Given the description of an element on the screen output the (x, y) to click on. 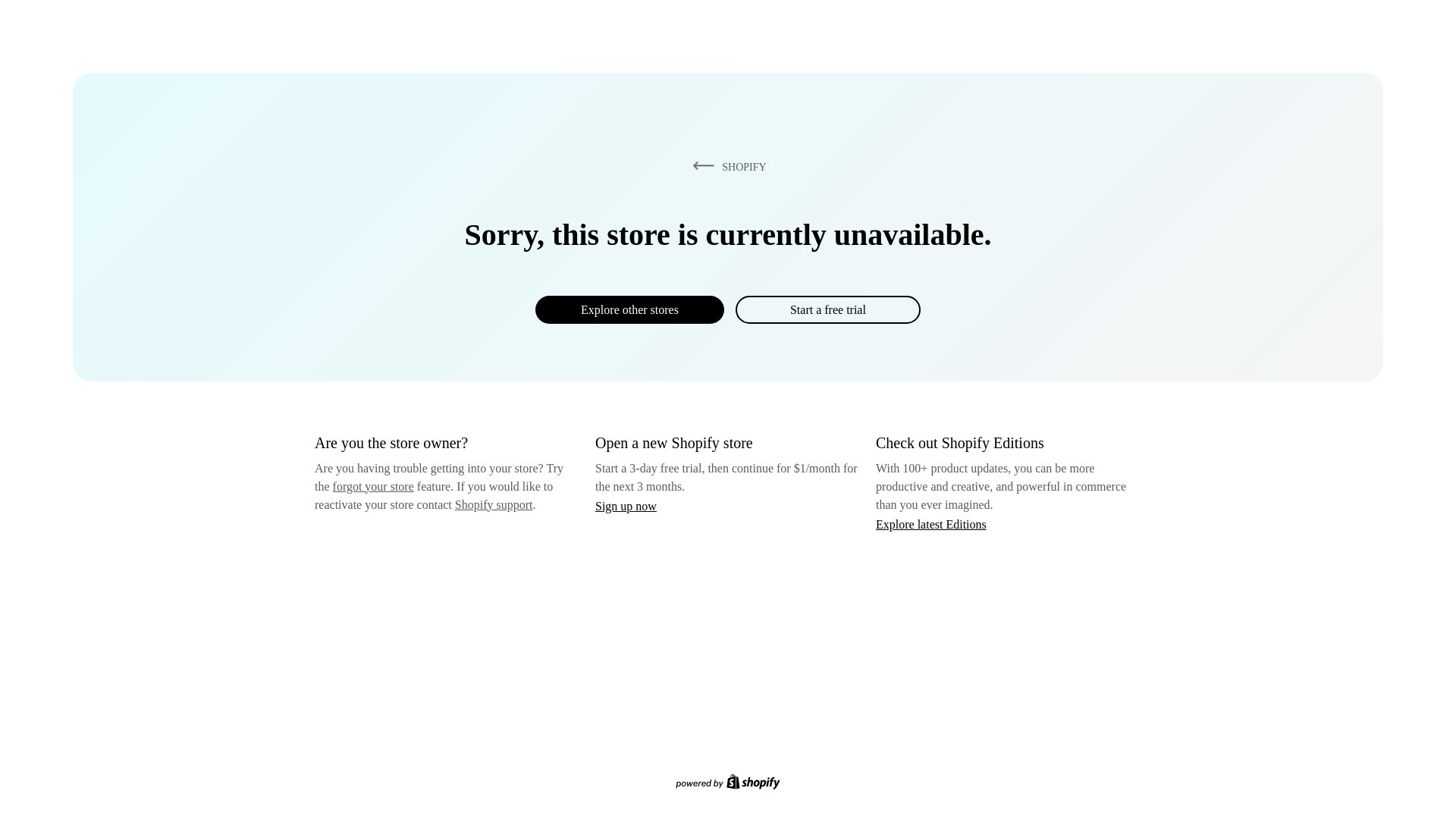
Start a free trial (827, 309)
SHOPIFY (726, 166)
Explore other stores (629, 309)
forgot your store (373, 486)
Explore latest Editions (931, 523)
Shopify support (493, 504)
Sign up now (625, 505)
